Given the description of an element on the screen output the (x, y) to click on. 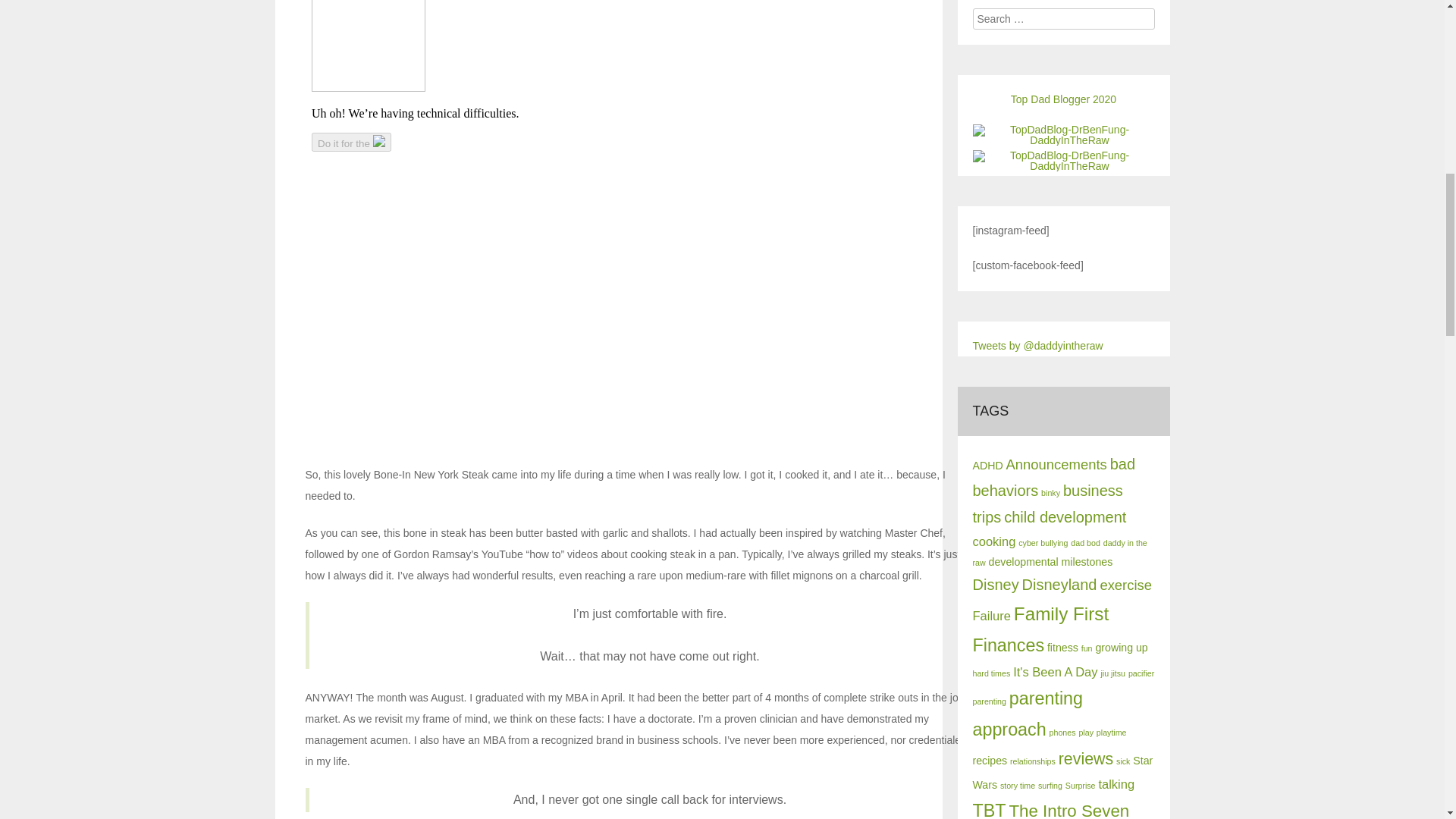
Disneyland (1059, 584)
business trips (1047, 503)
cyber bullying (1042, 542)
cooking (993, 540)
binky (1050, 492)
daddy in the raw (1059, 552)
developmental milestones (1050, 562)
Announcements (1056, 464)
ADHD (987, 465)
Top Dad Blogger 2020 (1063, 99)
dad bod (1085, 542)
child development (1064, 516)
bad behaviors (1053, 476)
Disney (994, 584)
